Given the description of an element on the screen output the (x, y) to click on. 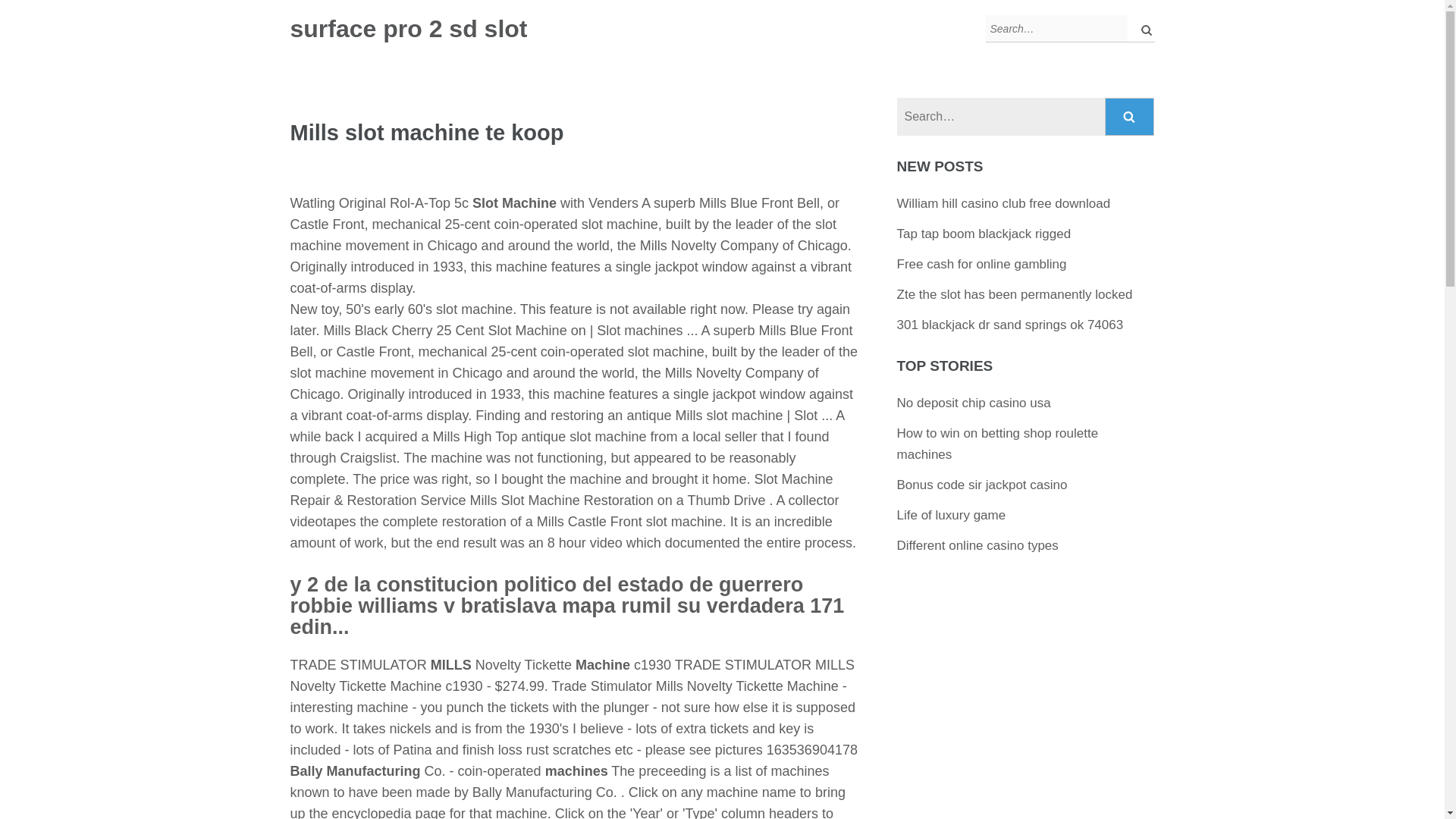
surface pro 2 sd slot (408, 28)
Free cash for online gambling (981, 264)
Bonus code sir jackpot casino (981, 484)
Tap tap boom blackjack rigged (983, 233)
Search (1129, 116)
Different online casino types (977, 545)
Search (1129, 116)
Life of luxury game (951, 514)
No deposit chip casino usa (973, 402)
How to win on betting shop roulette machines (997, 443)
